Given the description of an element on the screen output the (x, y) to click on. 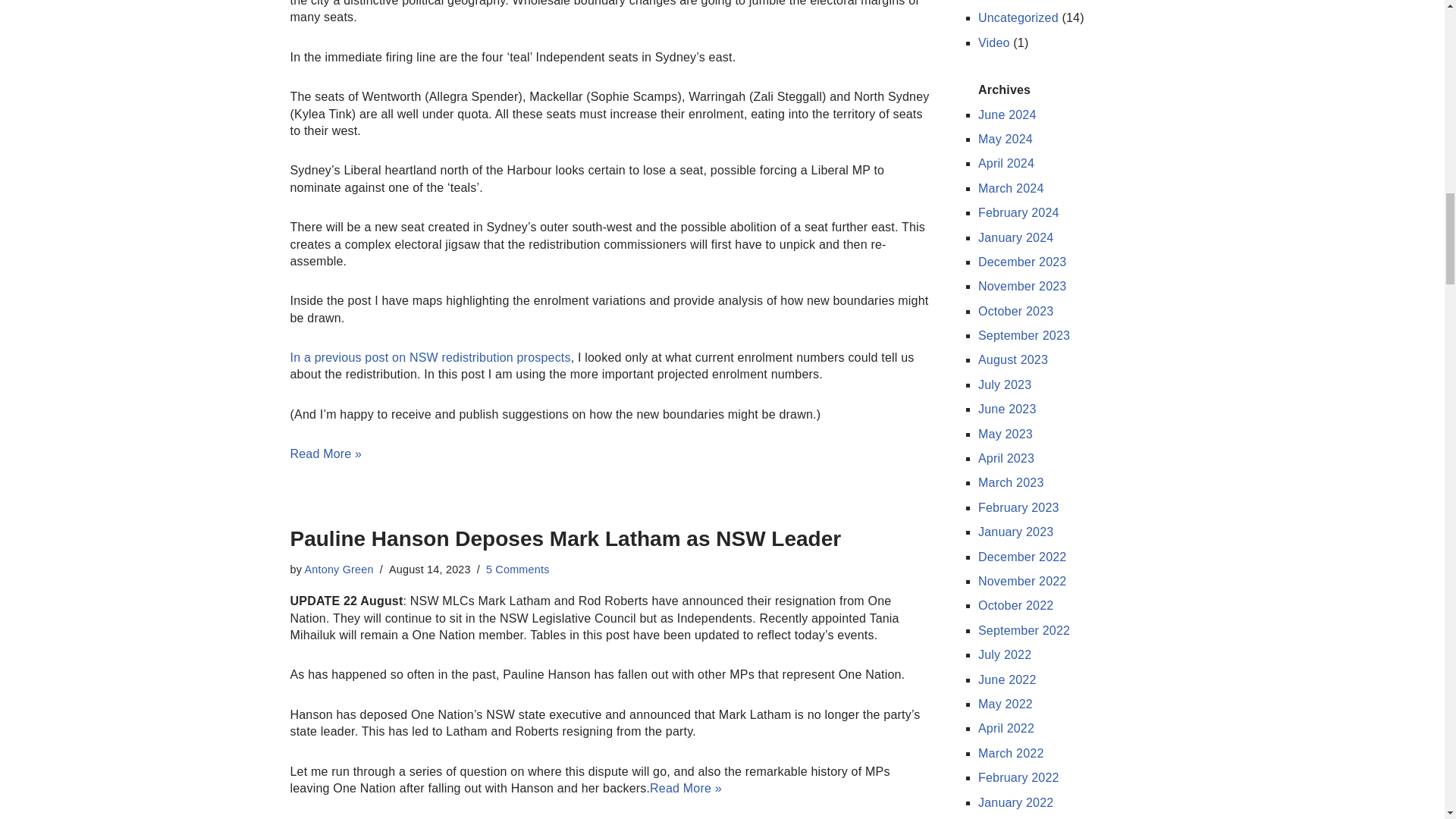
Posts by Antony Green (339, 569)
Antony Green (339, 569)
In a previous post on NSW redistribution prospects (429, 357)
Pauline Hanson Deposes Mark Latham as NSW Leader (565, 538)
5 Comments (518, 569)
